Given the description of an element on the screen output the (x, y) to click on. 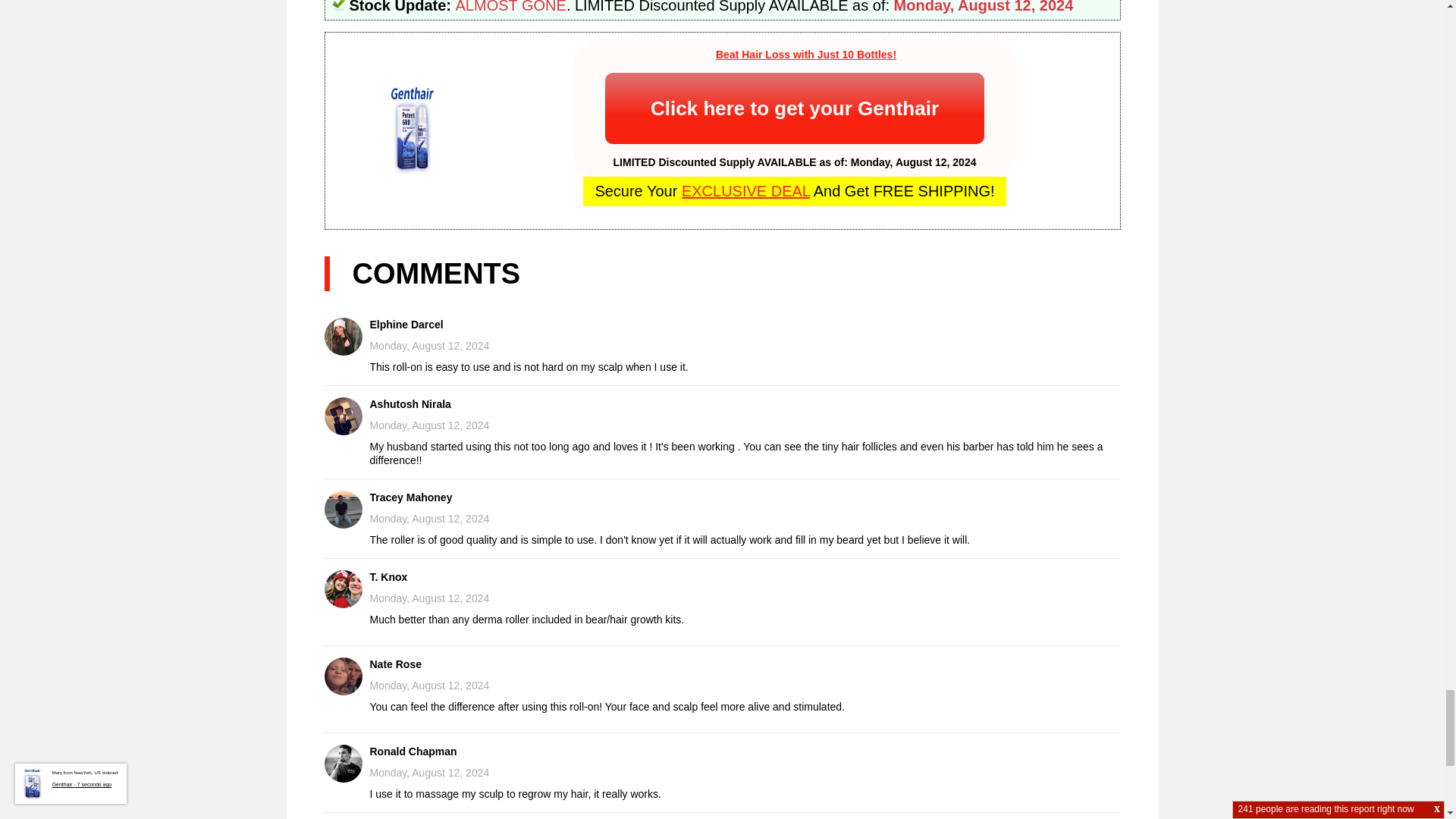
Beat Hair Loss with Just 10 Bottles! (806, 54)
Click here to get your Genthair (794, 108)
EXCLUSIVE DEAL (745, 190)
